Given the description of an element on the screen output the (x, y) to click on. 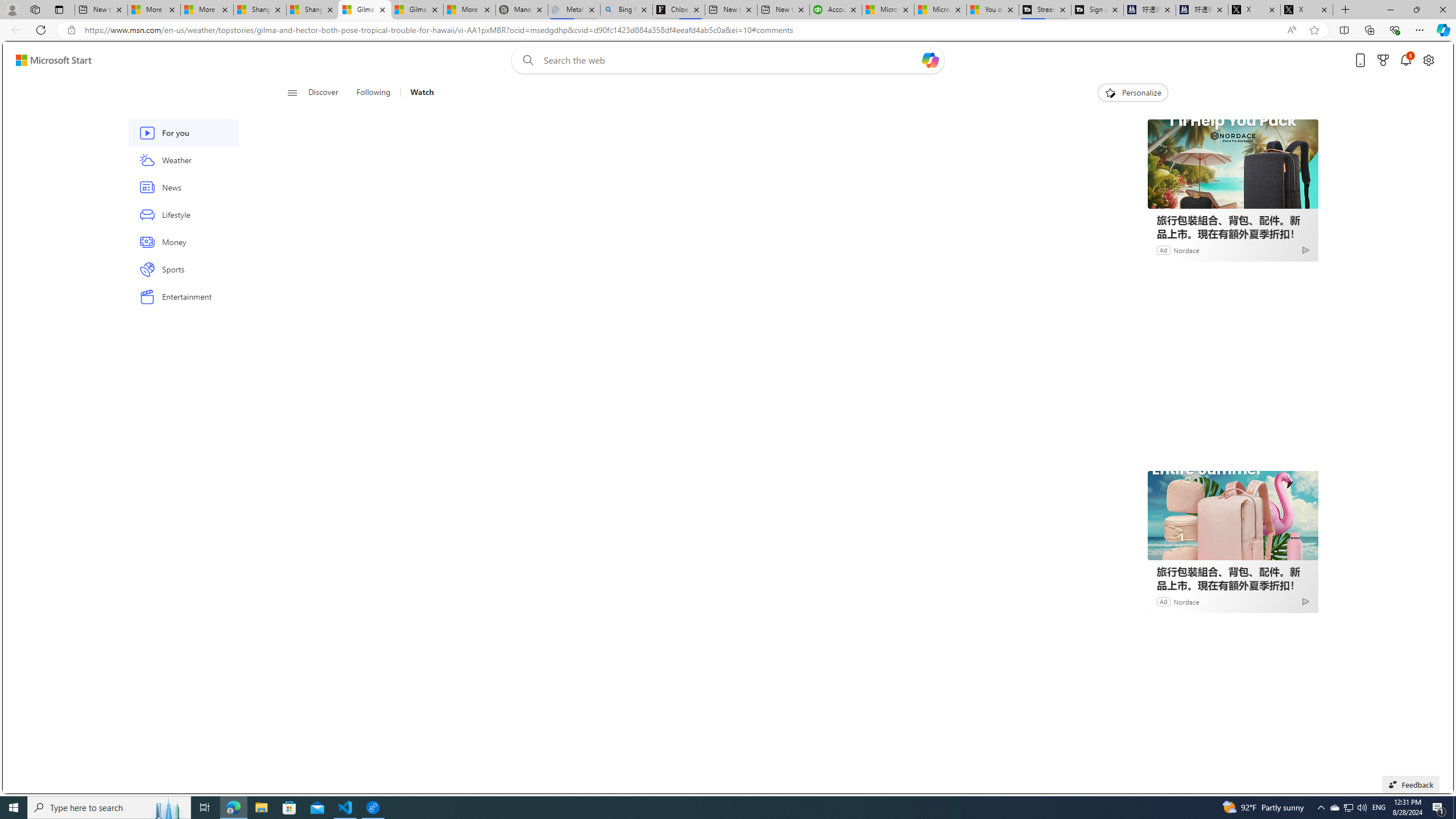
Open navigation menu (292, 92)
Discover (327, 92)
To get missing image descriptions, open the context menu. (1109, 92)
Open Copilot (930, 59)
